Given the description of an element on the screen output the (x, y) to click on. 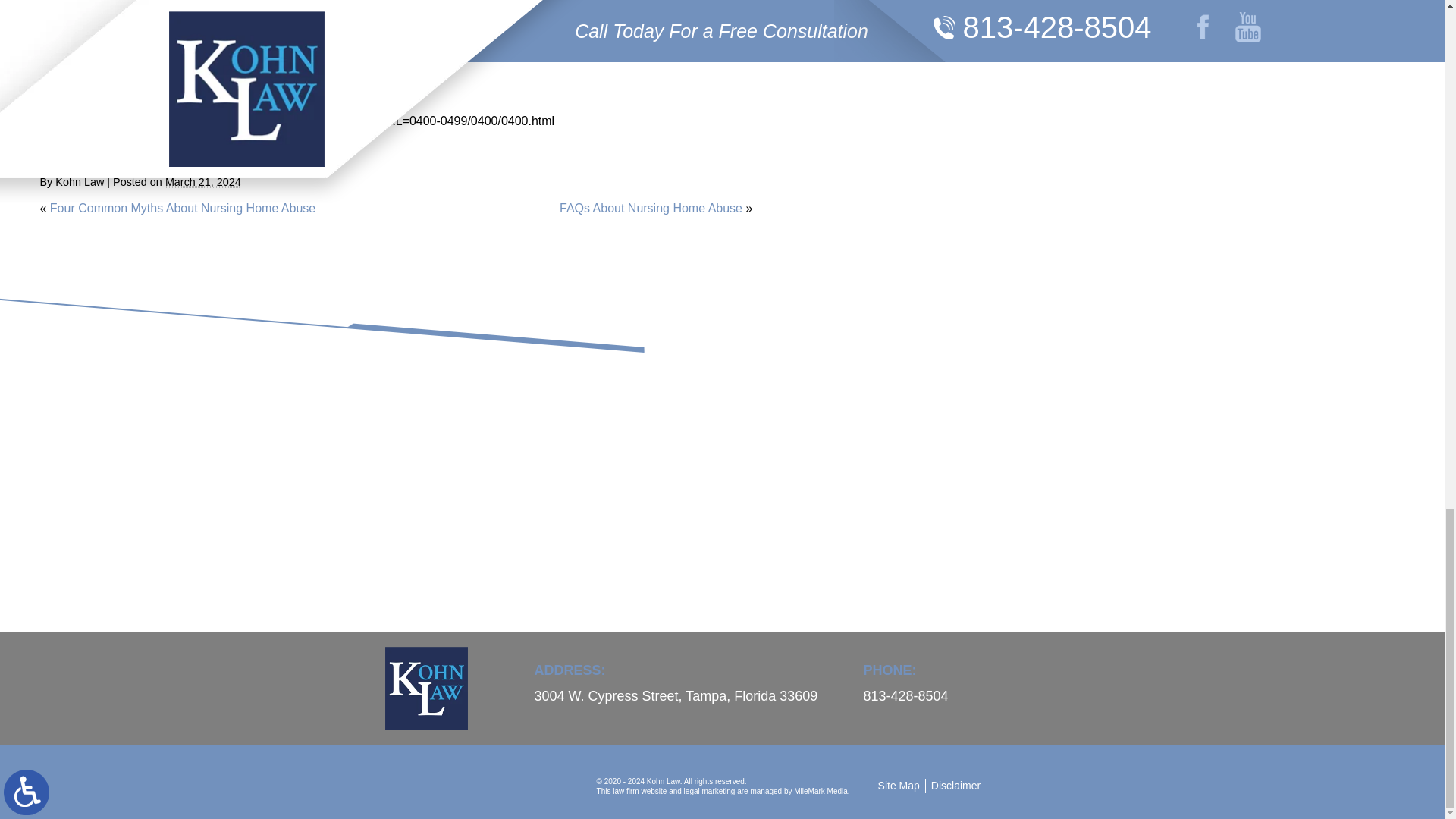
LinkedIn (85, 152)
Twitter (74, 152)
Facebook (63, 152)
2024-03-21T03:00:51-0700 (203, 182)
